Given the description of an element on the screen output the (x, y) to click on. 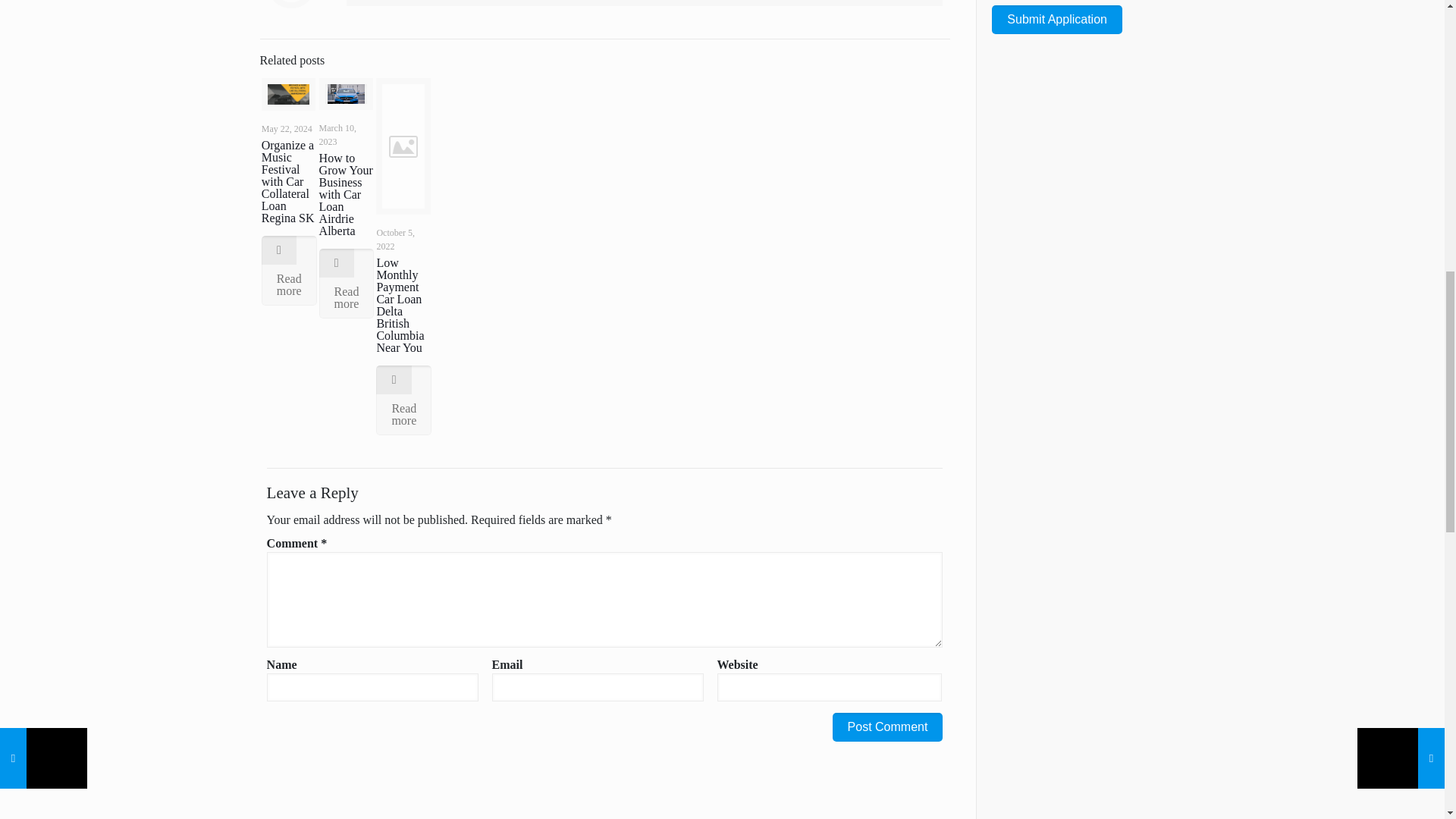
Post Comment (887, 727)
Submit Application (1056, 19)
